Given the description of an element on the screen output the (x, y) to click on. 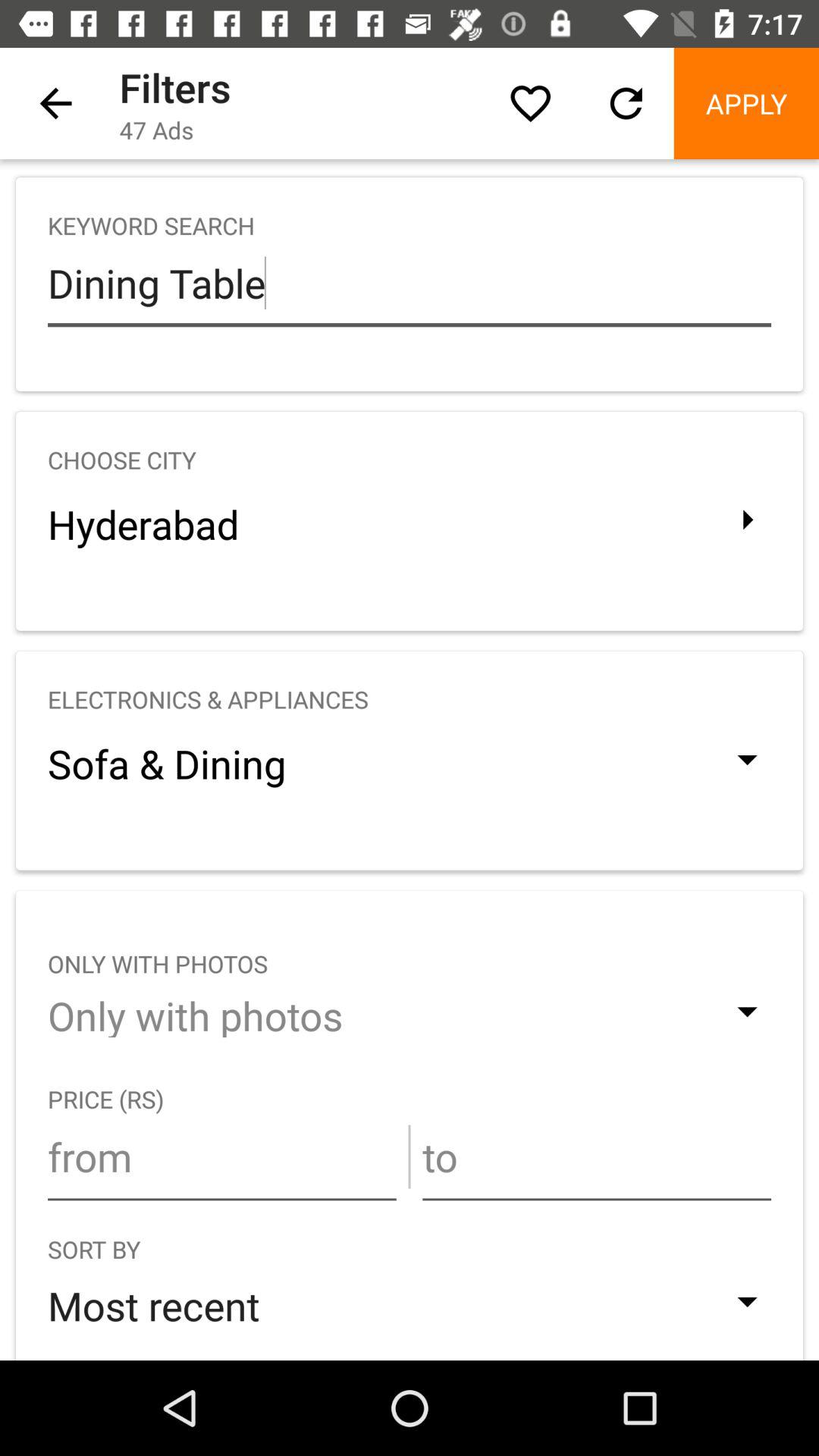
jump until dining table (409, 283)
